Given the description of an element on the screen output the (x, y) to click on. 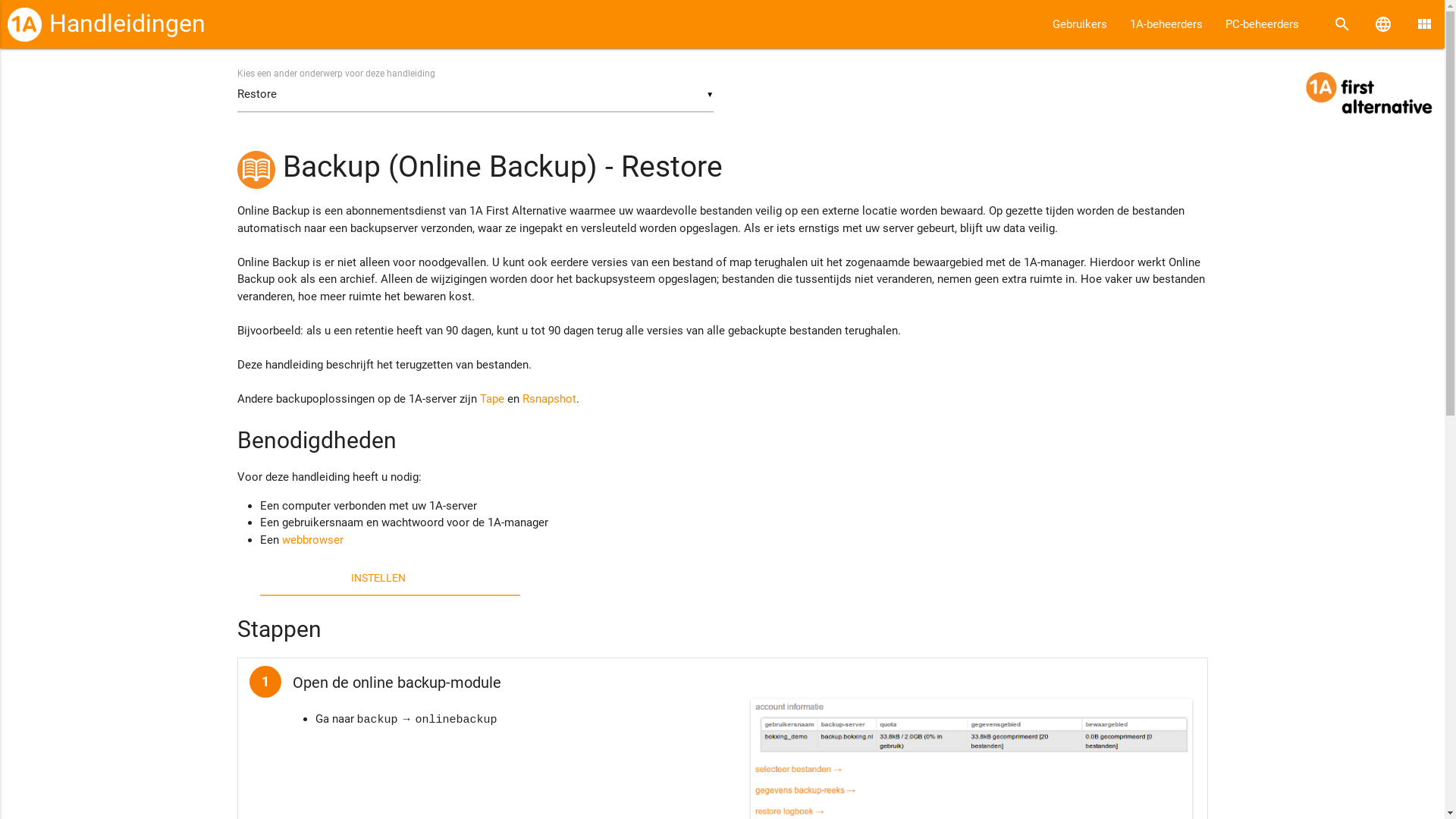
view_module Element type: text (1423, 24)
Gebruikers Element type: text (1079, 24)
webbrowser Element type: text (312, 539)
1A-beheerders Element type: text (1166, 24)
PC-beheerders Element type: text (1262, 24)
Handleidingen Element type: text (127, 24)
INSTELLEN Element type: text (377, 577)
language Element type: text (1382, 24)
Rsnapshot Element type: text (548, 398)
Tape Element type: text (491, 398)
